Given the description of an element on the screen output the (x, y) to click on. 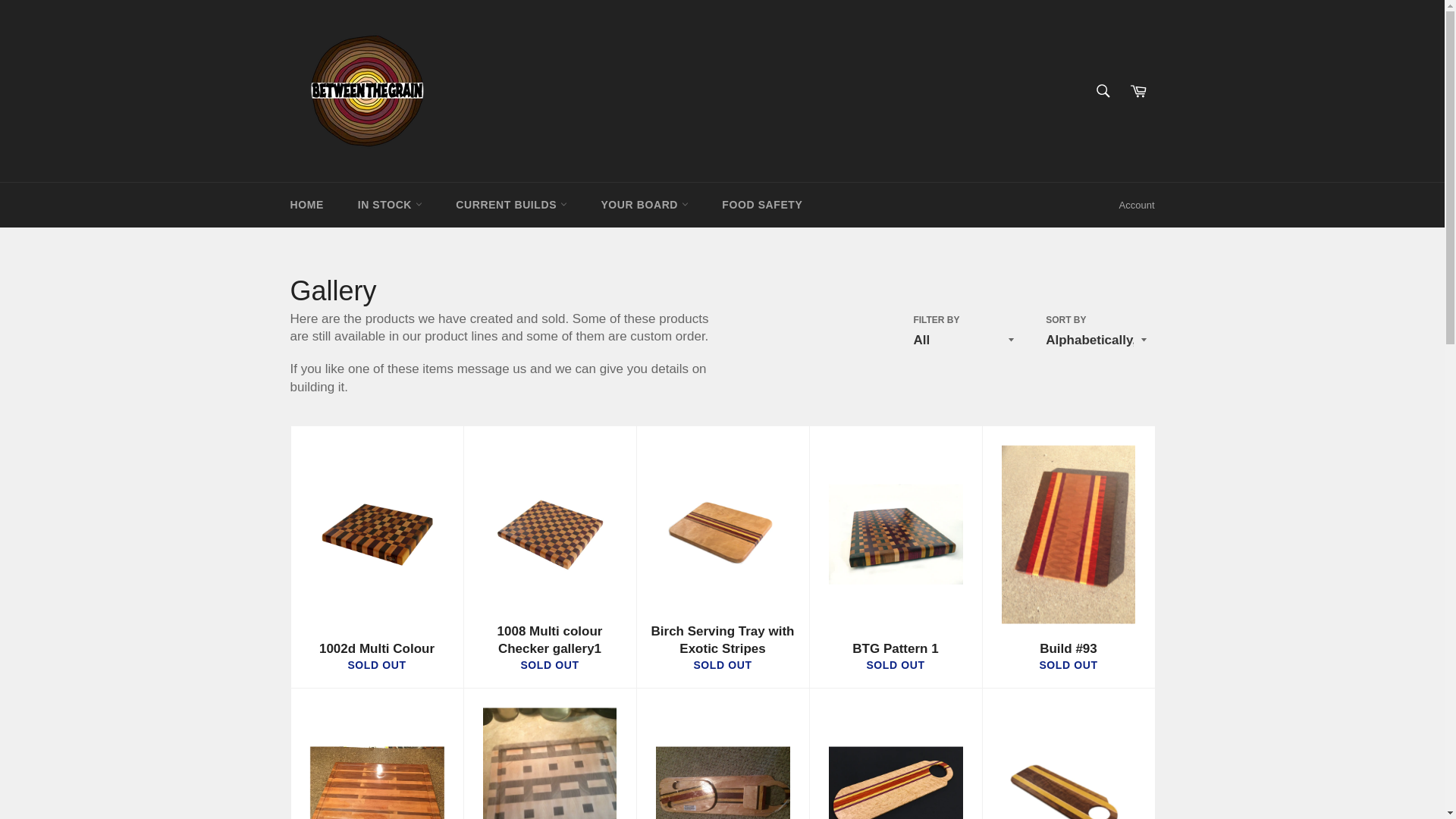
HOME Element type: text (306, 204)
Search Element type: text (1103, 90)
CURRENT BUILDS Element type: text (510, 204)
1008 Multi colour Checker gallery1
SOLD OUT Element type: text (548, 557)
Birch Serving Tray with Exotic Stripes
SOLD OUT Element type: text (721, 557)
YOUR BOARD Element type: text (643, 204)
BTG Pattern 1
SOLD OUT Element type: text (894, 557)
FOOD SAFETY Element type: text (761, 204)
IN STOCK Element type: text (389, 204)
Build #93
SOLD OUT Element type: text (1067, 557)
1002d Multi Colour
SOLD OUT Element type: text (375, 557)
Cart Element type: text (1138, 90)
Account Element type: text (1136, 205)
